Given the description of an element on the screen output the (x, y) to click on. 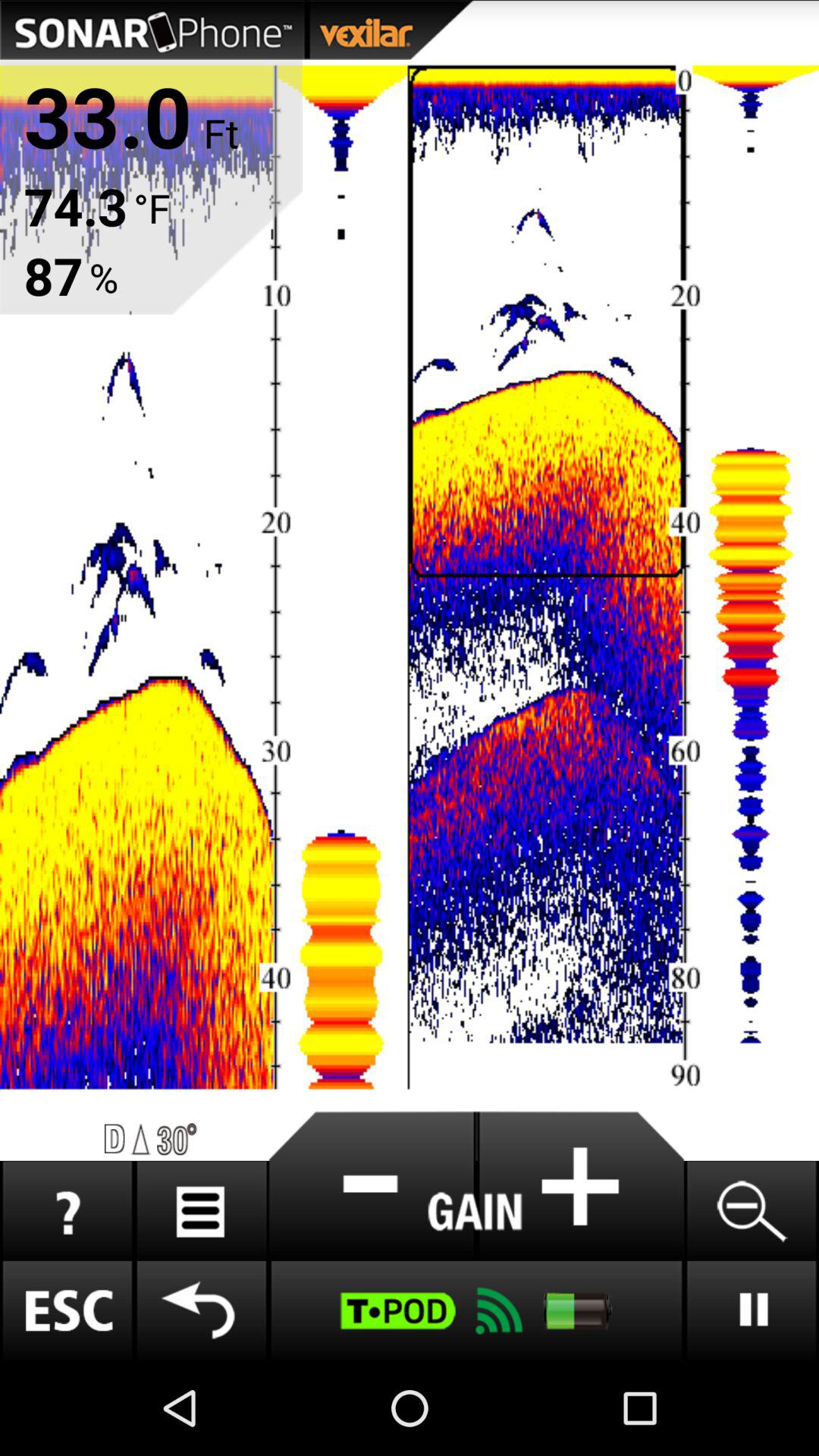
ingres sonar (580, 1185)
